Given the description of an element on the screen output the (x, y) to click on. 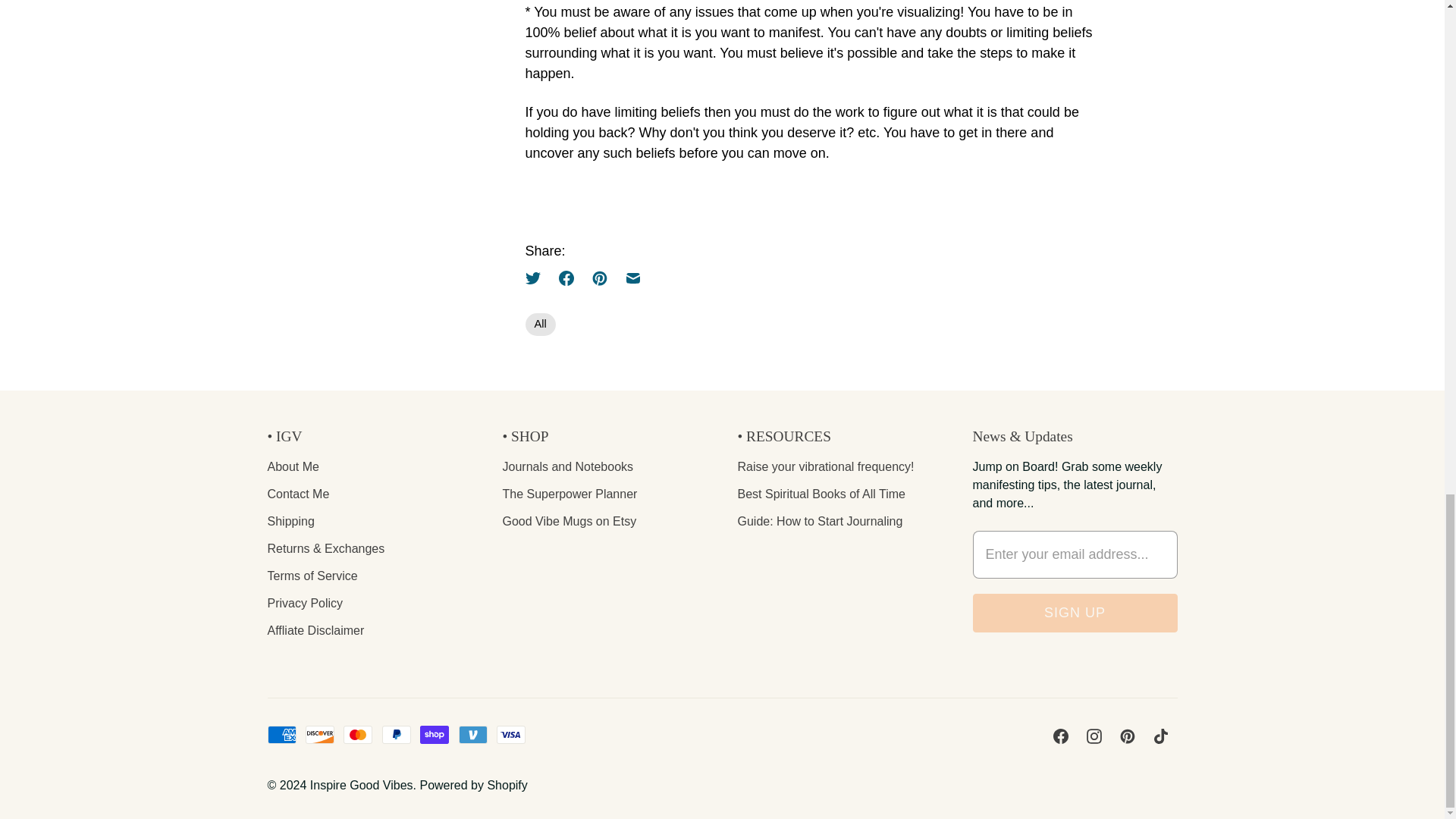
Venmo (472, 734)
Shop Pay (434, 734)
Mastercard (357, 734)
Share this on Facebook (565, 277)
PayPal (395, 734)
Visa (510, 734)
Discover (319, 734)
Email this to a friend (632, 277)
Share this on Twitter (536, 277)
American Express (280, 734)
Share this on Pinterest (598, 277)
Sign Up (1074, 612)
